Given the description of an element on the screen output the (x, y) to click on. 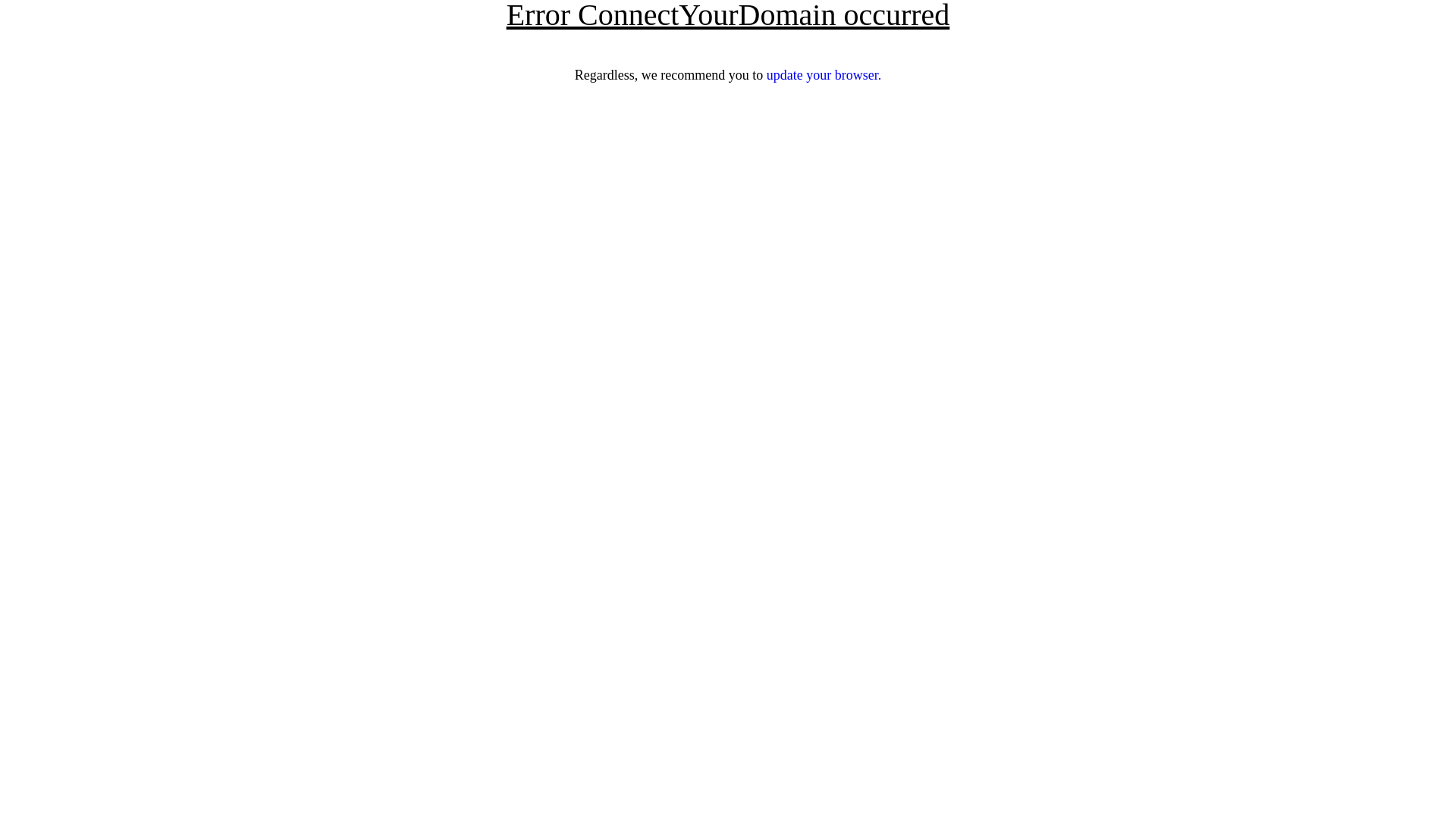
update your browser. Element type: text (823, 74)
